Given the description of an element on the screen output the (x, y) to click on. 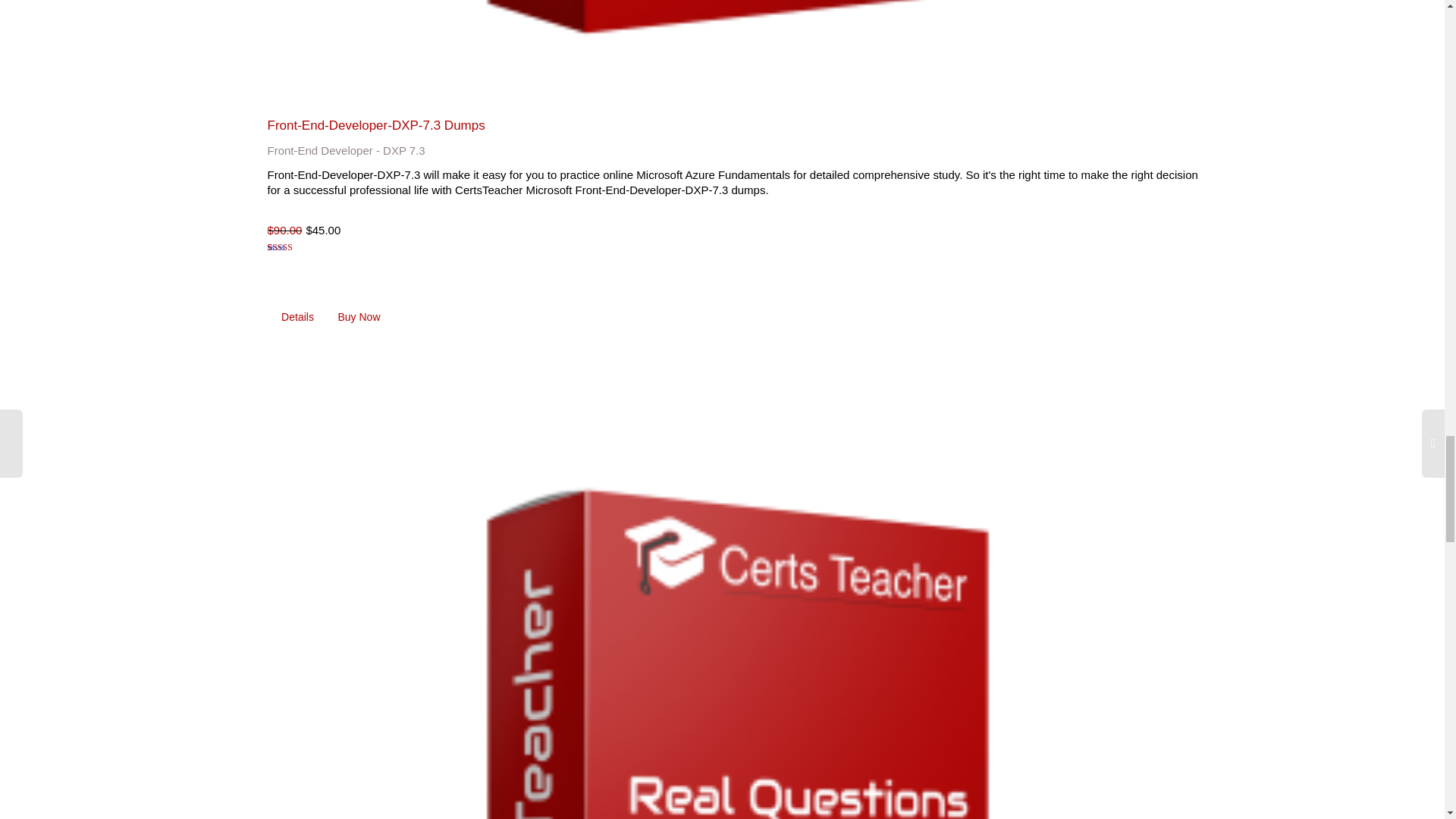
Front-End-Developer-DXP-7.3 Dumps (375, 124)
Buy Now (358, 317)
Details (296, 317)
